Given the description of an element on the screen output the (x, y) to click on. 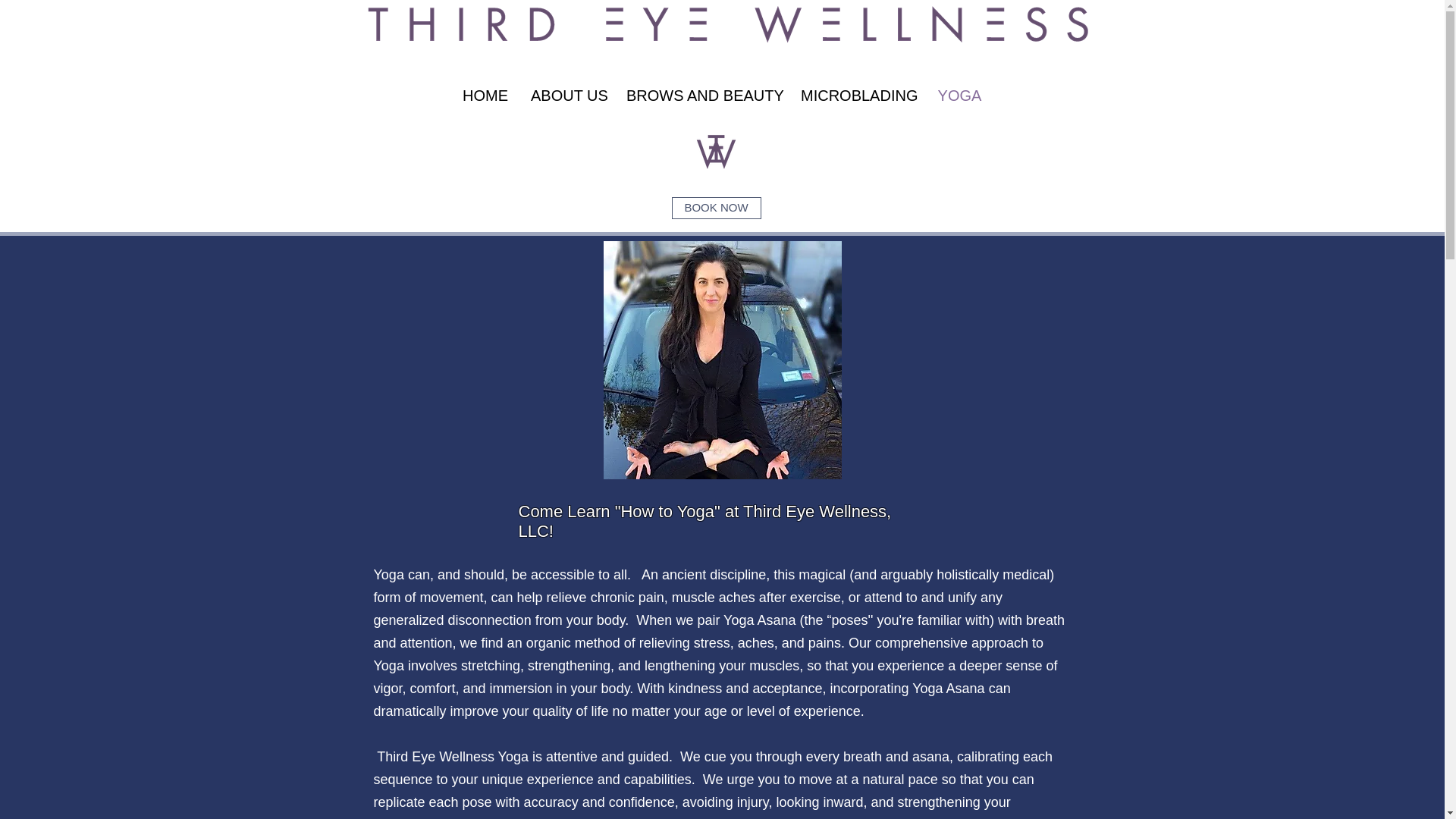
MICROBLADING (857, 96)
ABOUT US (566, 96)
BROWS AND BEAUTY (701, 96)
BOOK NOW (716, 208)
HOME (485, 96)
YOGA (959, 96)
